Given the description of an element on the screen output the (x, y) to click on. 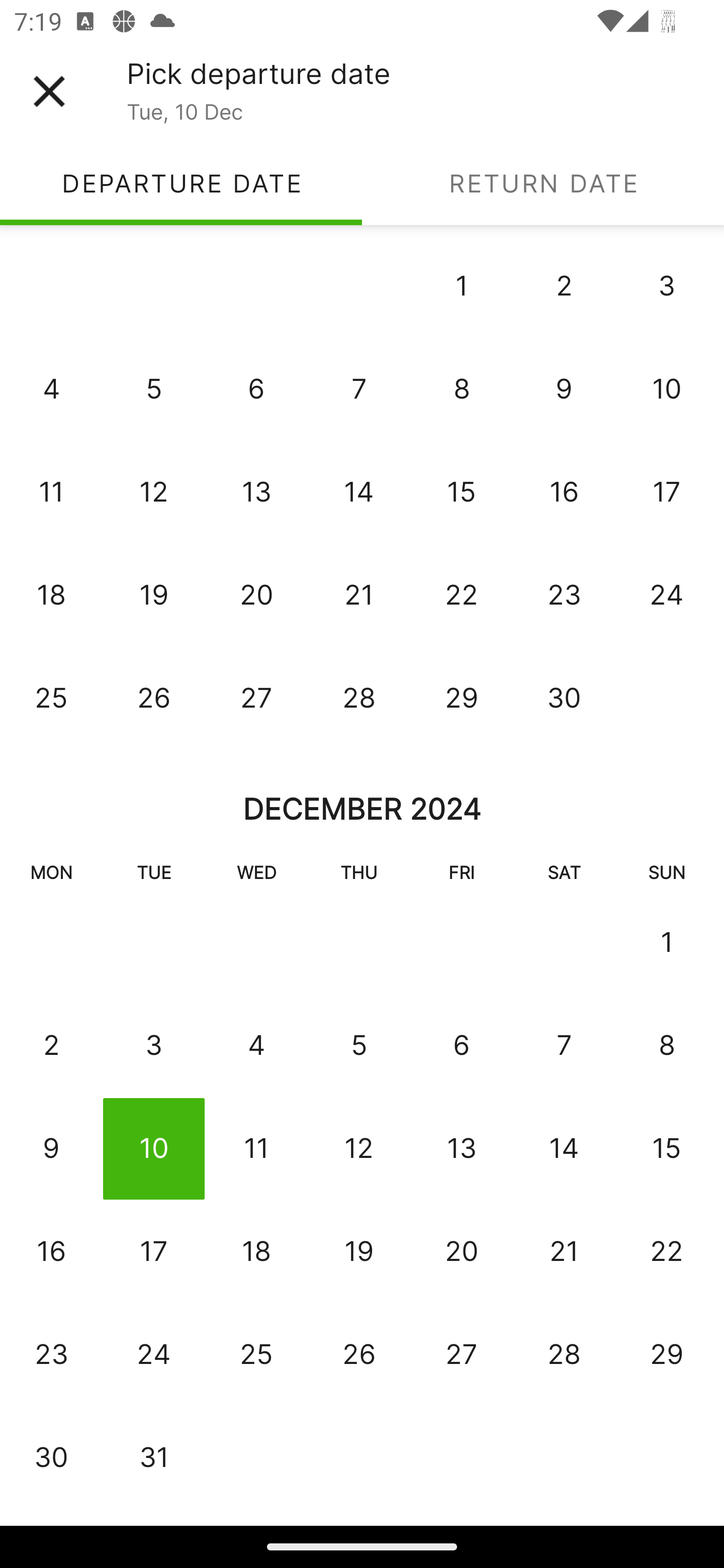
Return Date RETURN DATE (543, 183)
